Given the description of an element on the screen output the (x, y) to click on. 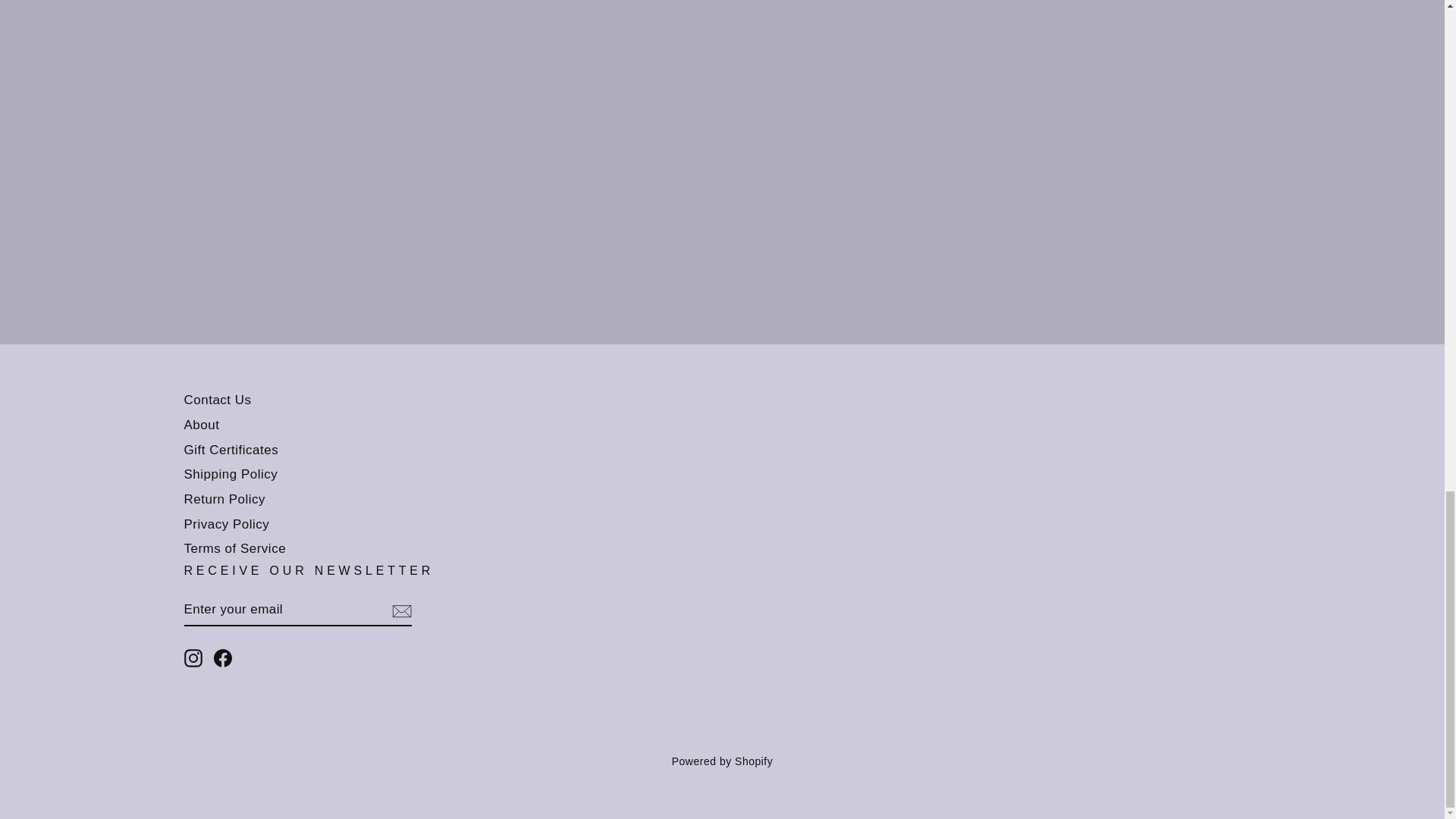
icon-email (400, 610)
Betsy Fisher on Facebook (222, 658)
Betsy Fisher on Instagram (192, 658)
instagram (192, 658)
